Given the description of an element on the screen output the (x, y) to click on. 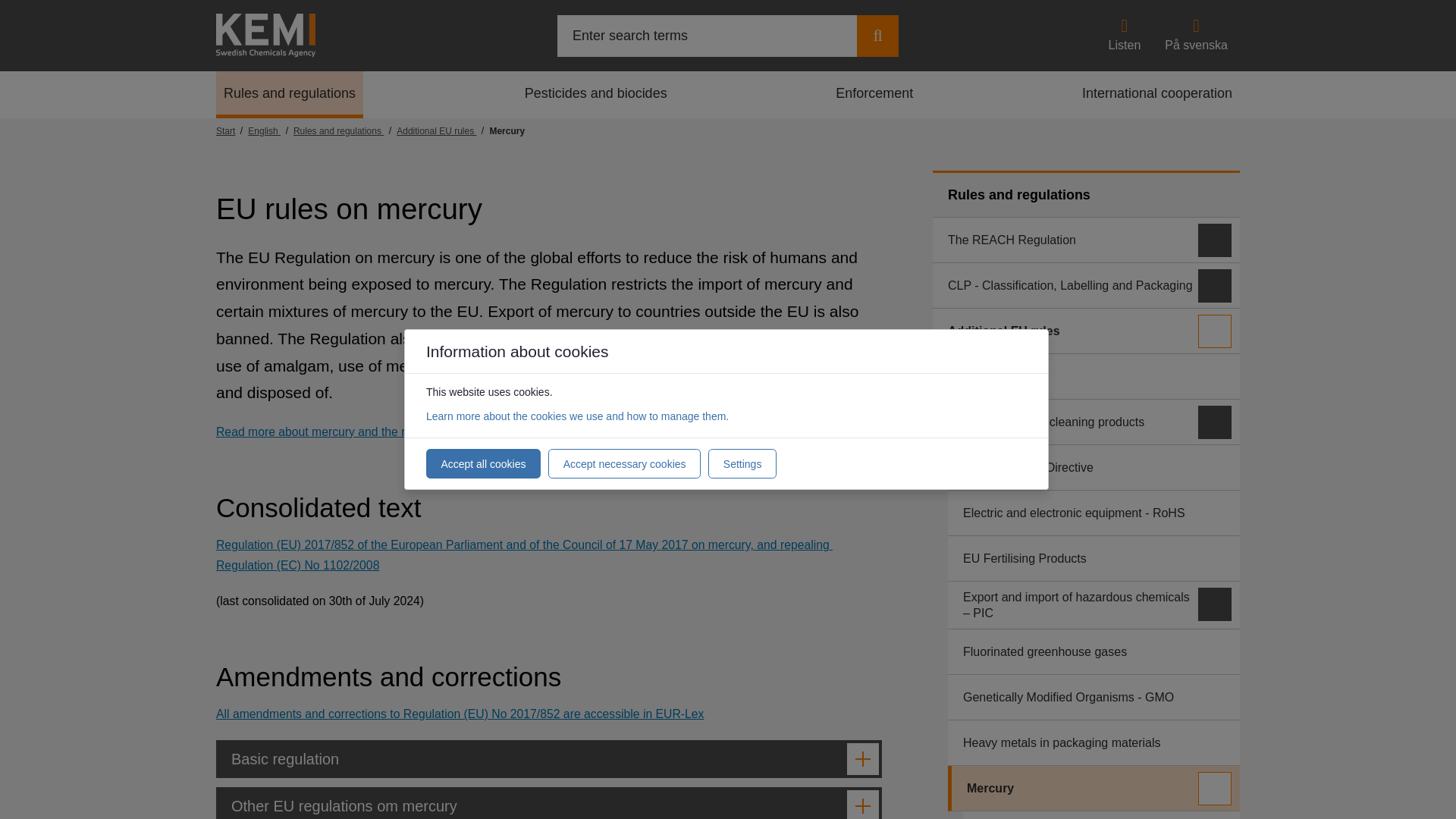
Read more about mercury and the rules (320, 431)
English (270, 131)
English (270, 131)
Rules and regulations (288, 94)
Rules and regulations (288, 94)
Mercury (506, 131)
Pesticides and biocides (595, 94)
Startsida (231, 131)
Rules and regulations (345, 131)
Rules and regulations (1086, 193)
